Given the description of an element on the screen output the (x, y) to click on. 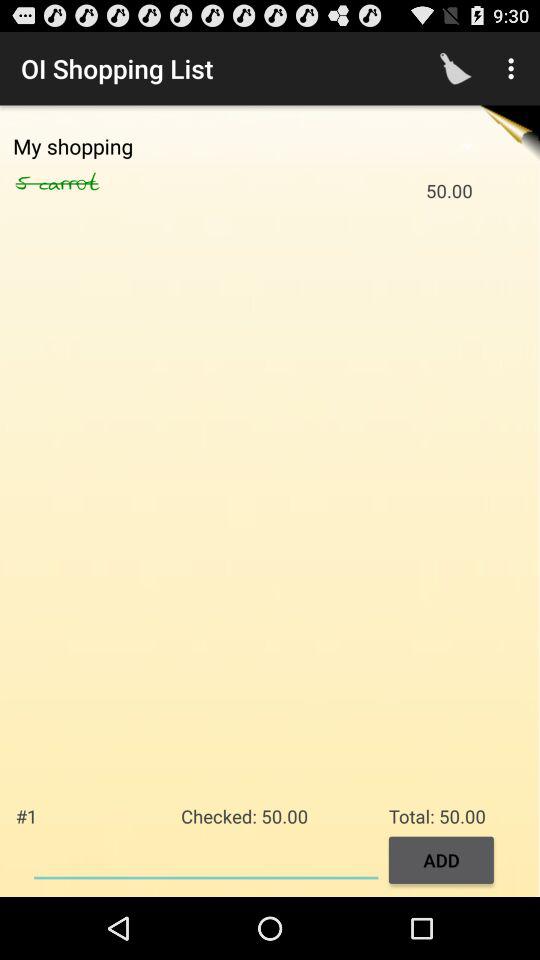
launch the icon above #1 (27, 183)
